Given the description of an element on the screen output the (x, y) to click on. 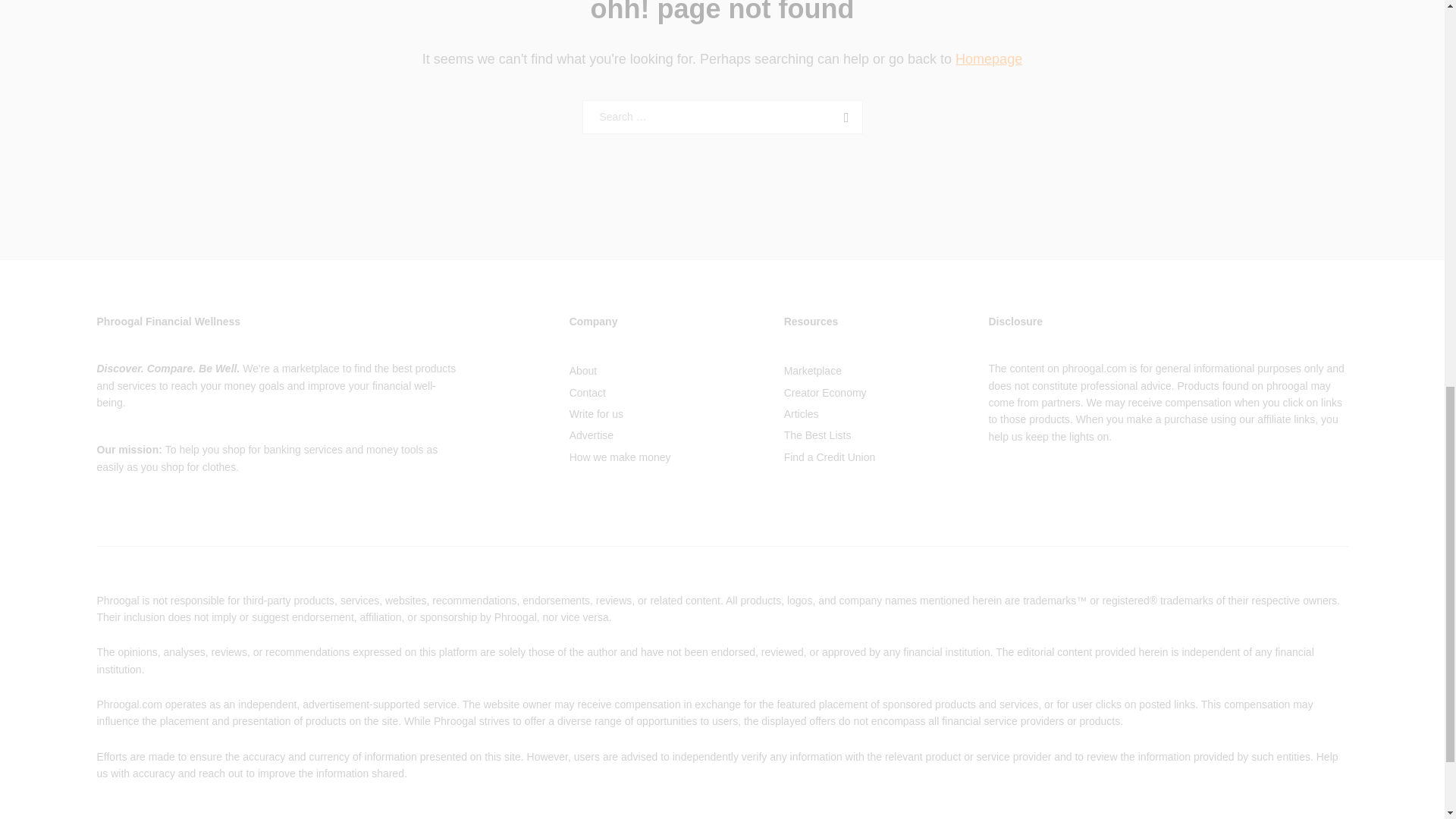
Search (843, 117)
About (582, 370)
Contact (587, 392)
Search (843, 117)
Search (843, 117)
Homepage (988, 58)
